Given the description of an element on the screen output the (x, y) to click on. 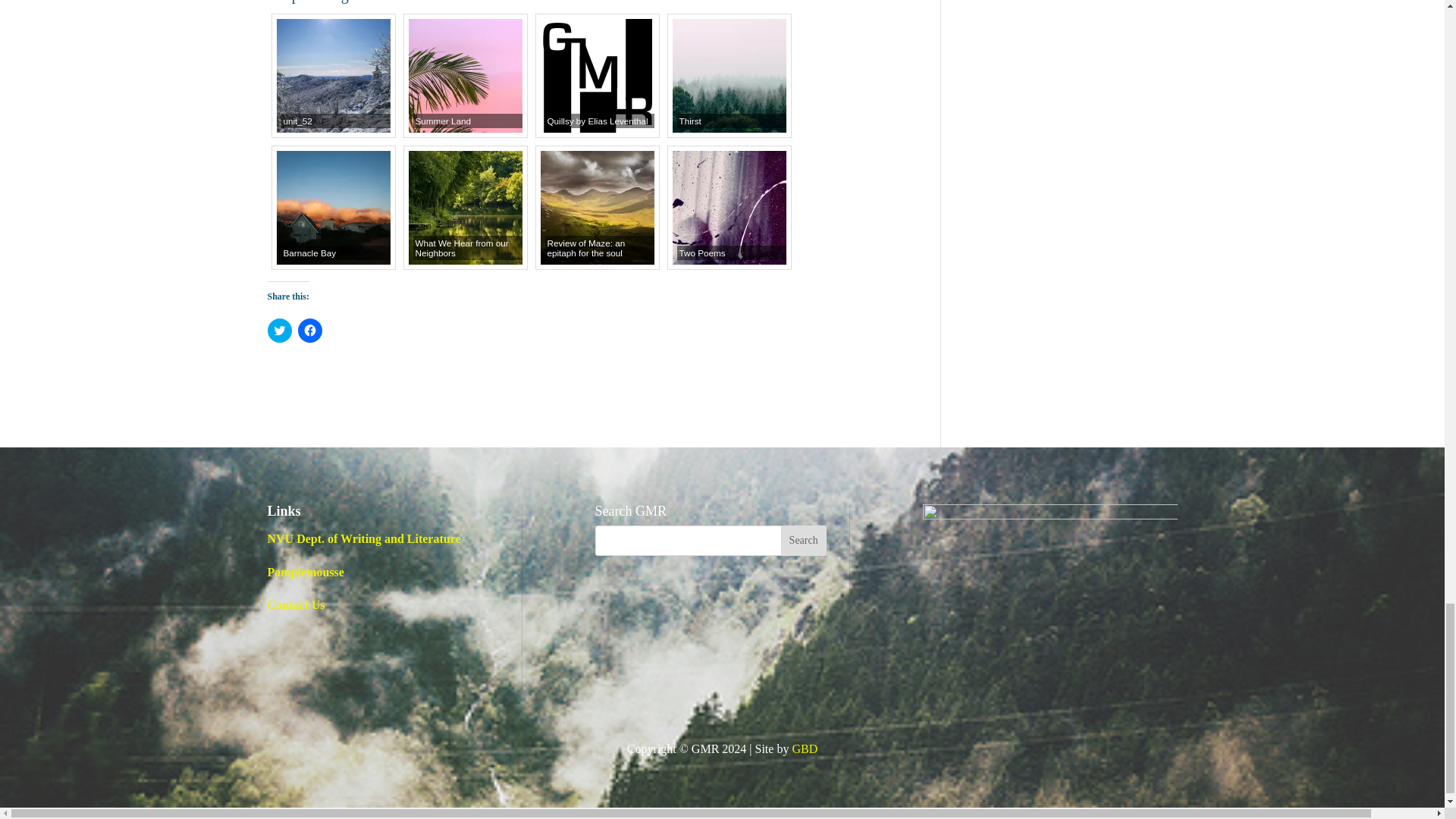
Two Poems (728, 207)
Quillsy by Elias Leventhal (596, 75)
Barnacle Bay (333, 207)
Thirst (728, 75)
Click to share on Twitter (278, 330)
What We Hear from our Neighbors (464, 207)
NVU Logo - White (1048, 528)
Summer Land (464, 75)
Review of Maze: an epitaph for the soul (596, 207)
Search (803, 540)
Click to share on Facebook (309, 330)
